Given the description of an element on the screen output the (x, y) to click on. 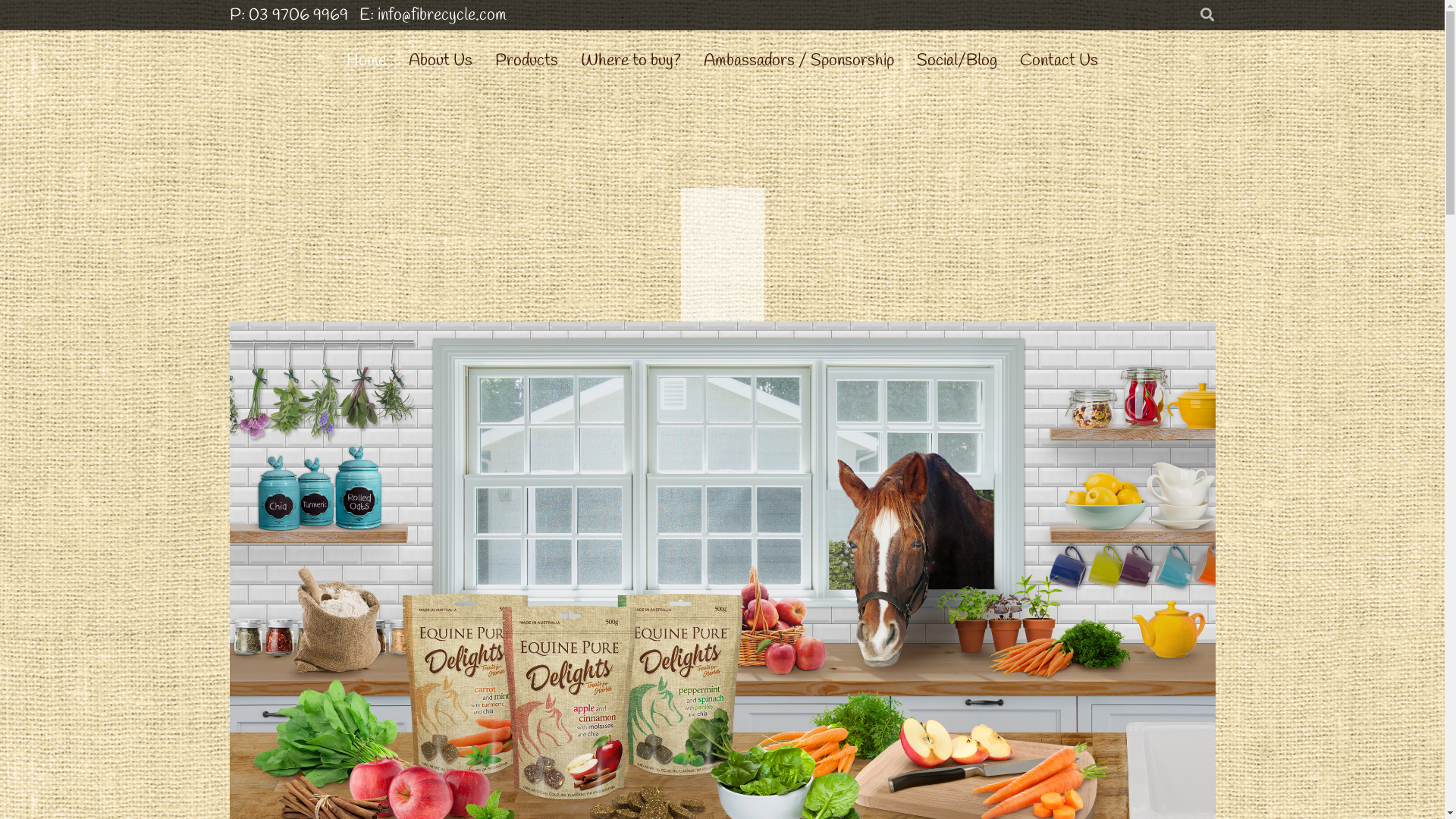
Home Element type: text (366, 60)
Where to buy? Element type: text (630, 60)
Ambassadors / Sponsorship Element type: text (798, 60)
Contact Us Element type: text (1058, 60)
Social/Blog Element type: text (956, 60)
Products Element type: text (526, 60)
About Us Element type: text (440, 60)
